Given the description of an element on the screen output the (x, y) to click on. 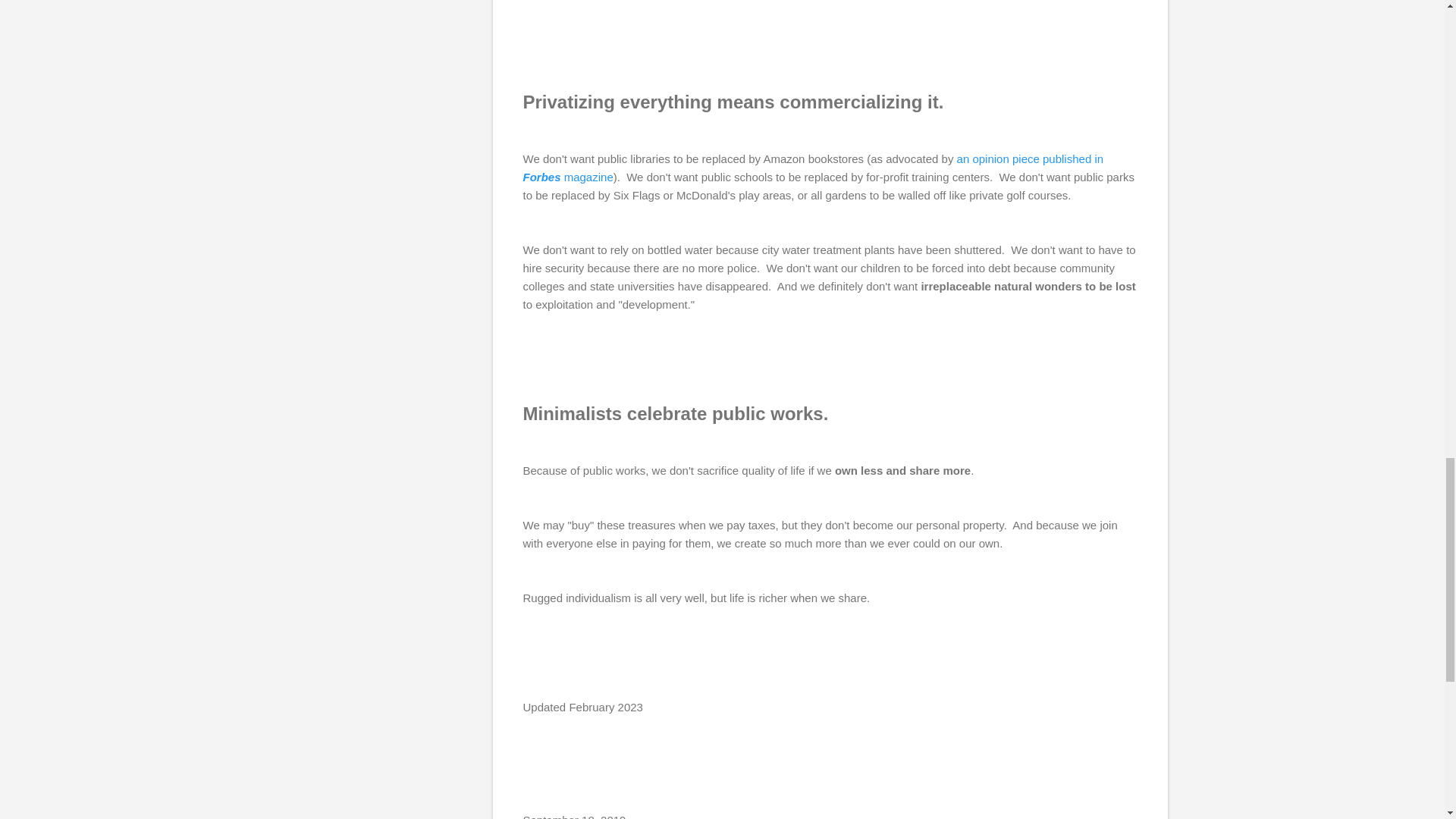
Email Post (531, 794)
September 18, 2019 (574, 816)
an opinion piece published in Forbes magazine (812, 166)
permanent link (574, 816)
